Given the description of an element on the screen output the (x, y) to click on. 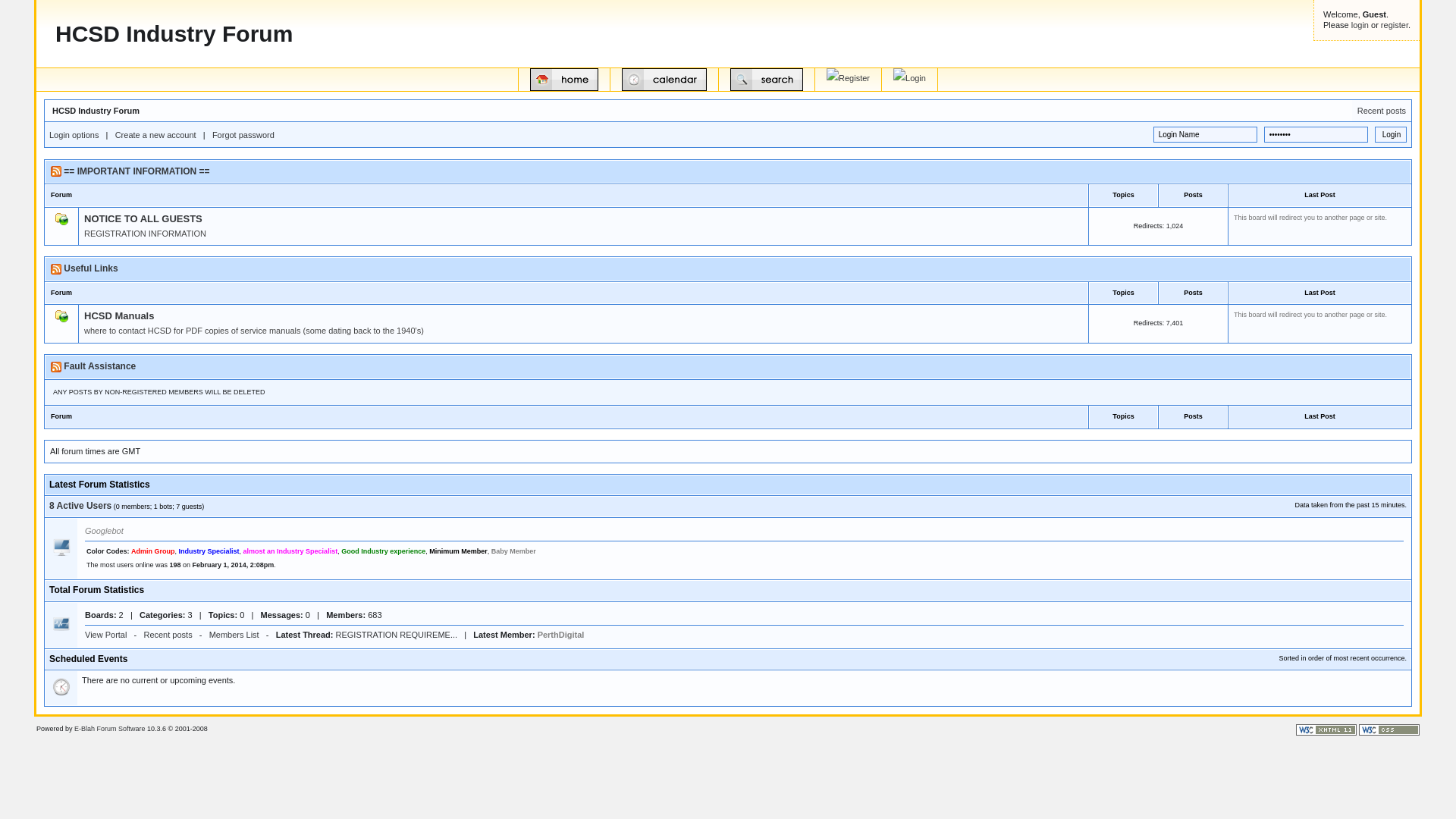
Login options Element type: text (73, 134)
REGISTRATION REQUIREME... Element type: text (396, 634)
Recent posts Element type: text (1381, 110)
Create a new account Element type: text (155, 134)
Valid XHTML Element type: hover (1325, 729)
E-Blah Forum Software Element type: text (109, 728)
View Portal Element type: text (105, 634)
Useful Links Element type: text (90, 268)
login Element type: text (1359, 24)
Valid CSS Element type: hover (1388, 729)
Members List Element type: text (234, 634)
Fault Assistance Element type: text (99, 365)
8 Active Users Element type: text (80, 505)
PerthDigital Element type: text (560, 634)
 Login  Element type: text (1390, 134)
Forgot password Element type: text (243, 134)
NOTICE TO ALL GUESTS Element type: text (143, 218)
Googlebot Element type: text (103, 530)
register Element type: text (1394, 24)
== IMPORTANT INFORMATION == Element type: text (136, 171)
Admin Group Element type: text (153, 551)
Recent posts Element type: text (167, 634)
HCSD Manuals Element type: text (118, 315)
